Given the description of an element on the screen output the (x, y) to click on. 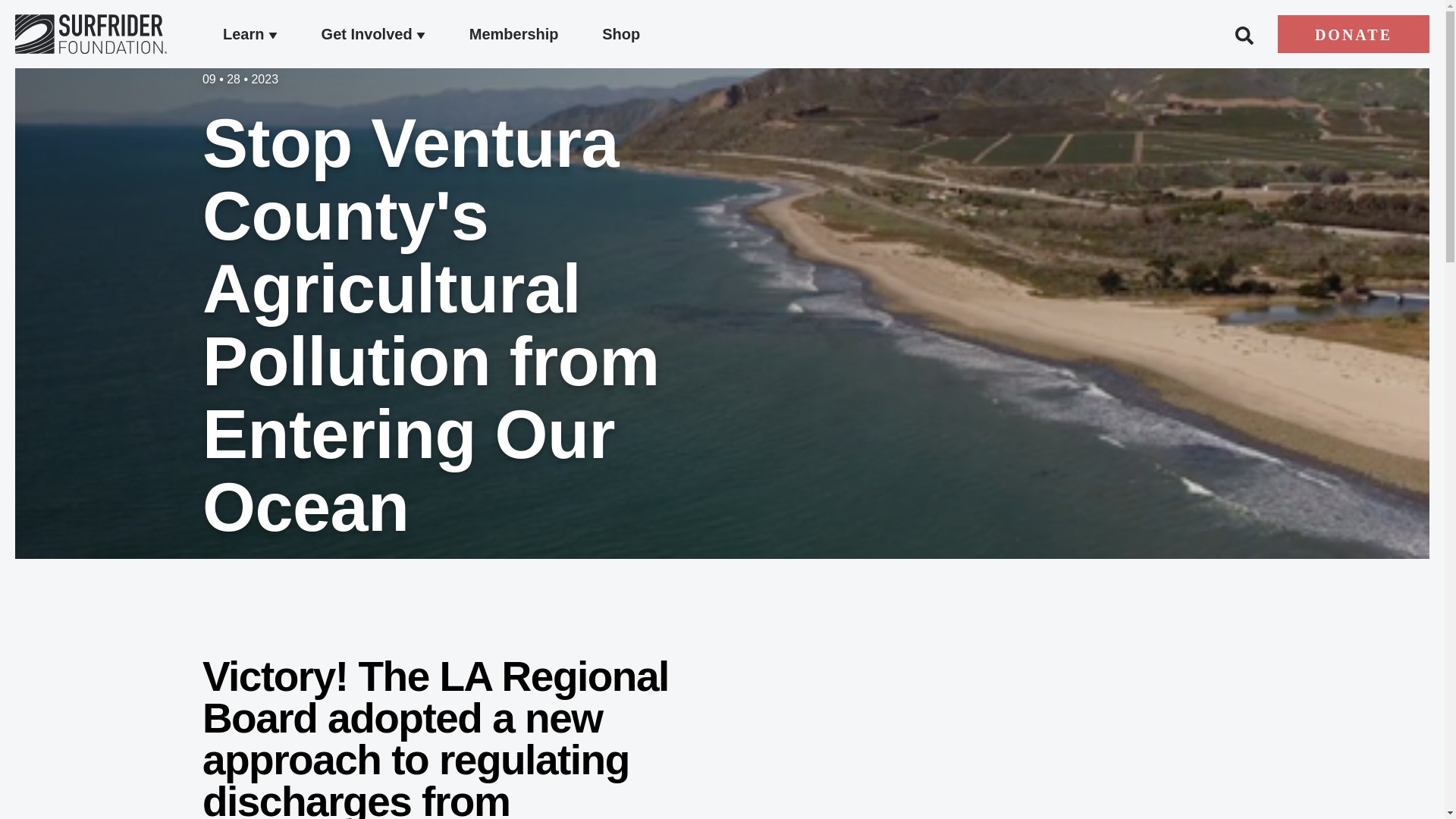
Surfrider Foundation (90, 34)
Shop (621, 34)
DONATE (1353, 34)
Get Involved (373, 34)
Learn (250, 34)
Membership (513, 34)
